Given the description of an element on the screen output the (x, y) to click on. 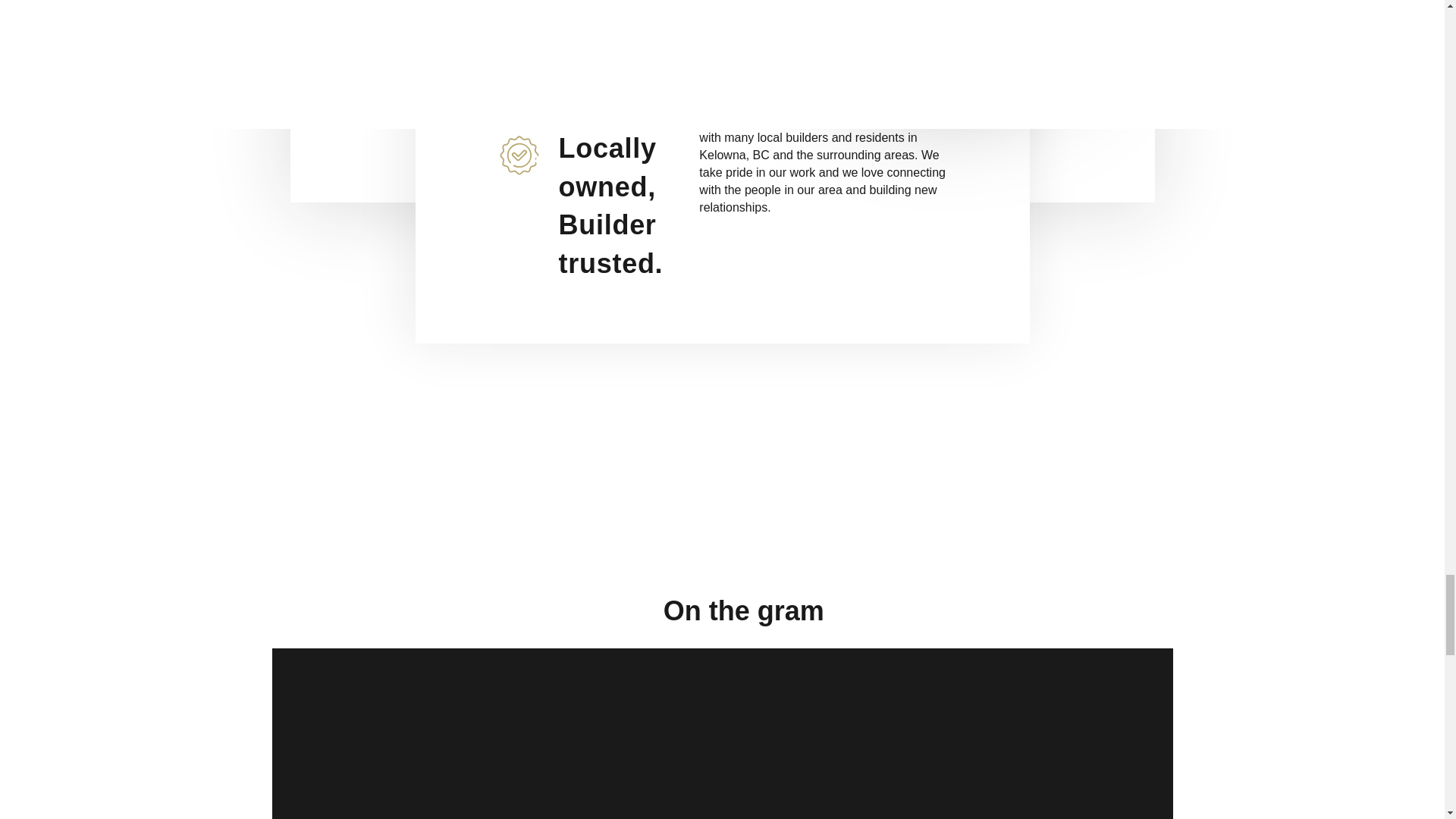
The women behind Urban Closets. Katie the lead des (1049, 745)
With over 200 colour choices from our great suppli (844, 745)
